Given the description of an element on the screen output the (x, y) to click on. 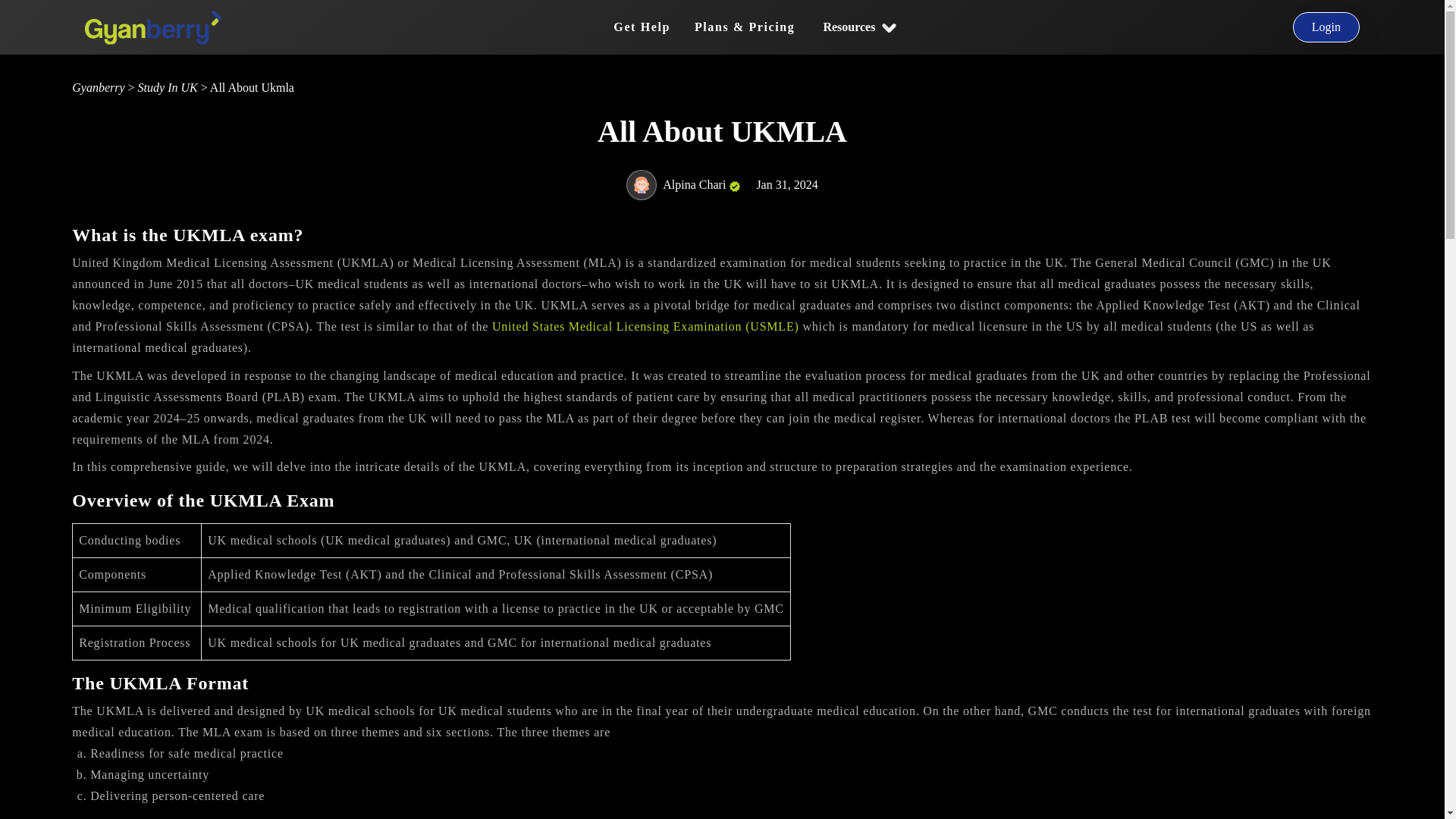
Study In UK (167, 87)
Gyanberry (99, 87)
Resources (858, 27)
Login (1325, 27)
Get Help (640, 27)
